Given the description of an element on the screen output the (x, y) to click on. 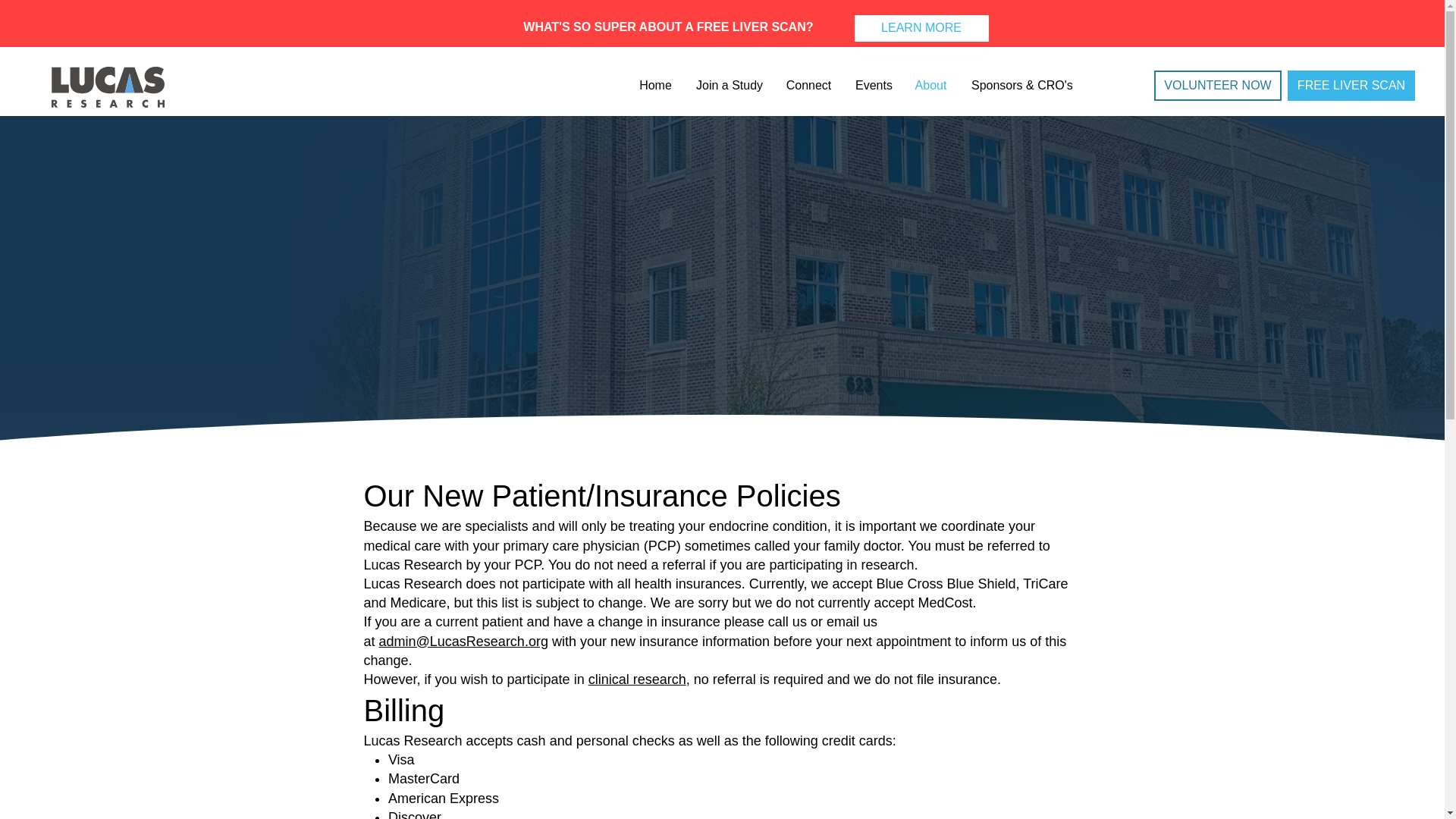
VOLUNTEER NOW (1217, 85)
LEARN MORE (920, 28)
About (930, 85)
Join a Study (728, 85)
Home (655, 85)
Connect (808, 85)
clinical research (636, 679)
FREE LIVER SCAN (1351, 85)
Events (872, 85)
